Given the description of an element on the screen output the (x, y) to click on. 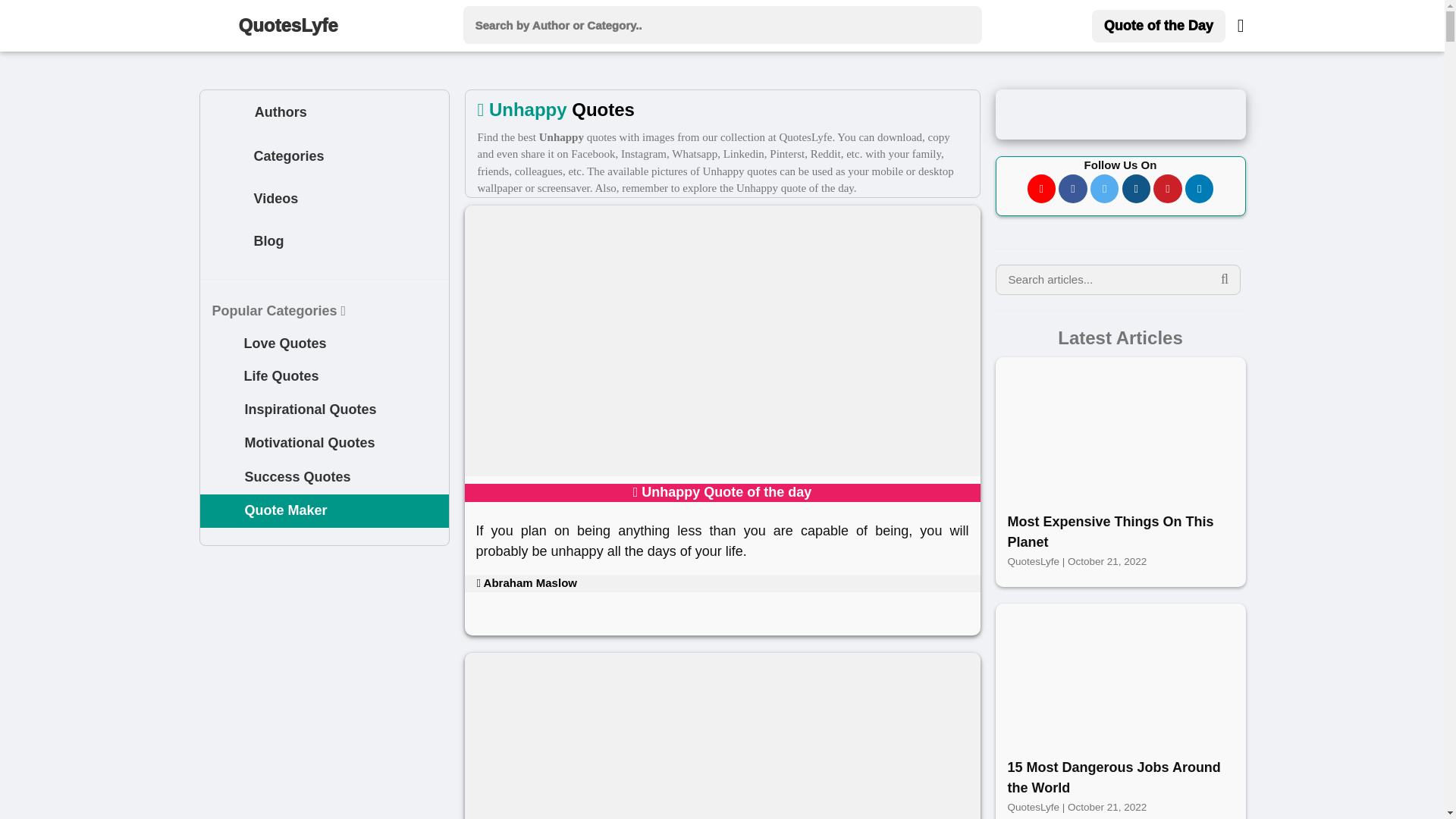
   Blog (324, 242)
  Motivational Quotes (324, 443)
   Videos (324, 200)
View Abraham Maslow Quotes (526, 582)
Motivational (222, 444)
   Authors (324, 112)
Blog (227, 242)
  Life Quotes (324, 376)
   Categories (324, 157)
Author (226, 112)
